Given the description of an element on the screen output the (x, y) to click on. 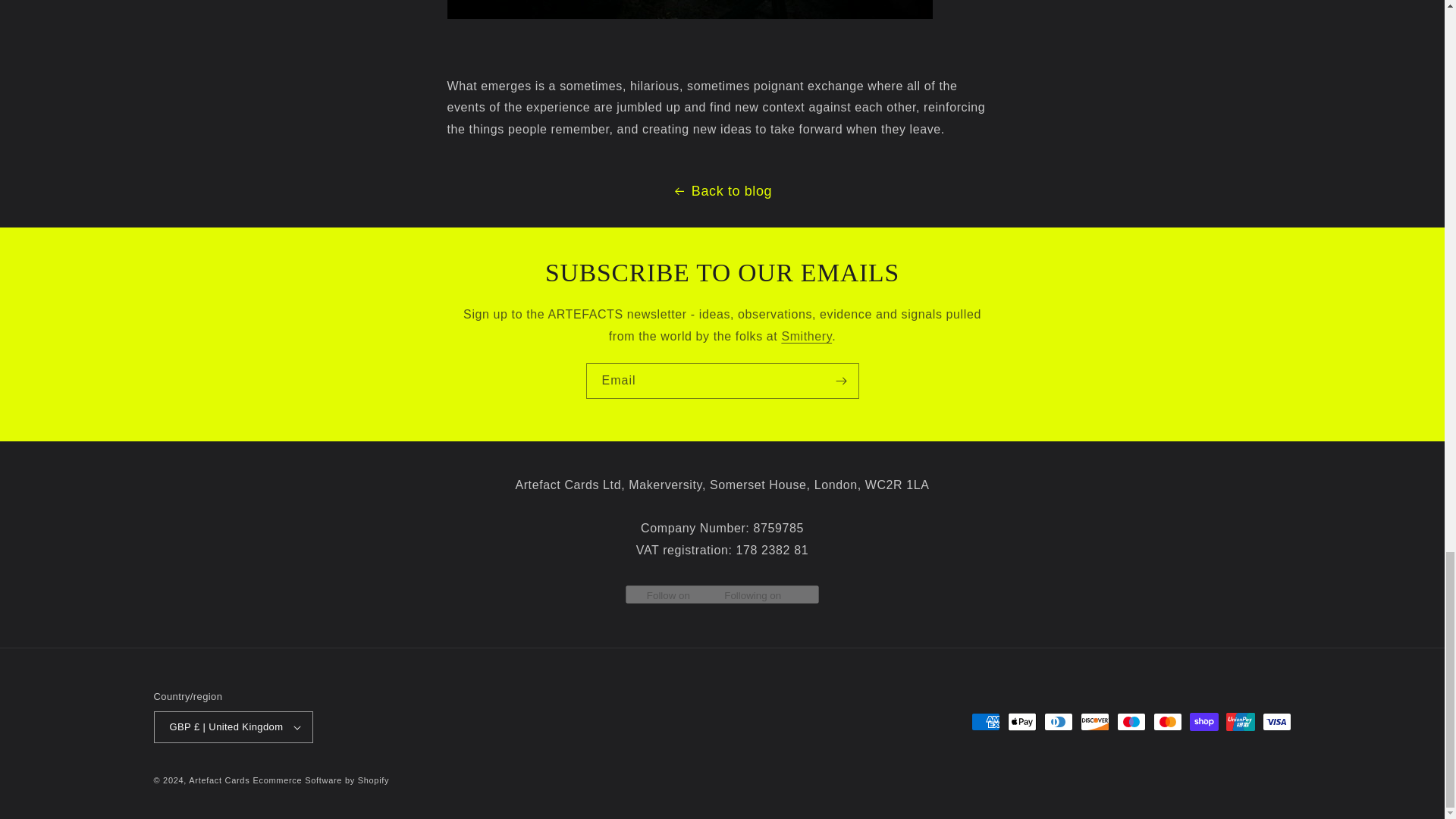
P1110569 (689, 17)
Smithery (805, 336)
Artefact Cards (218, 779)
Ecommerce Software by Shopify (319, 779)
